Given the description of an element on the screen output the (x, y) to click on. 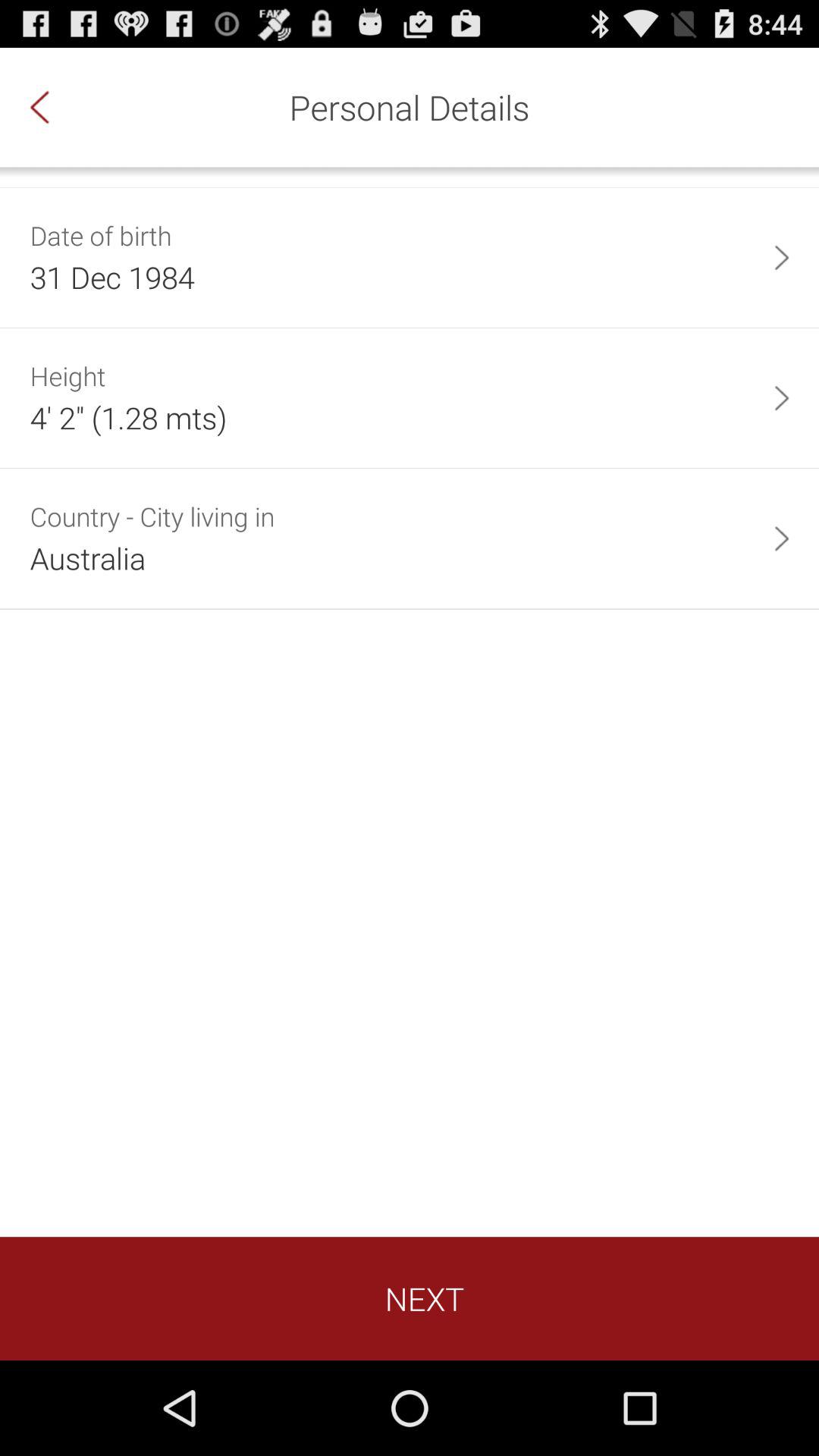
tap icon to the left of personal details (55, 107)
